Given the description of an element on the screen output the (x, y) to click on. 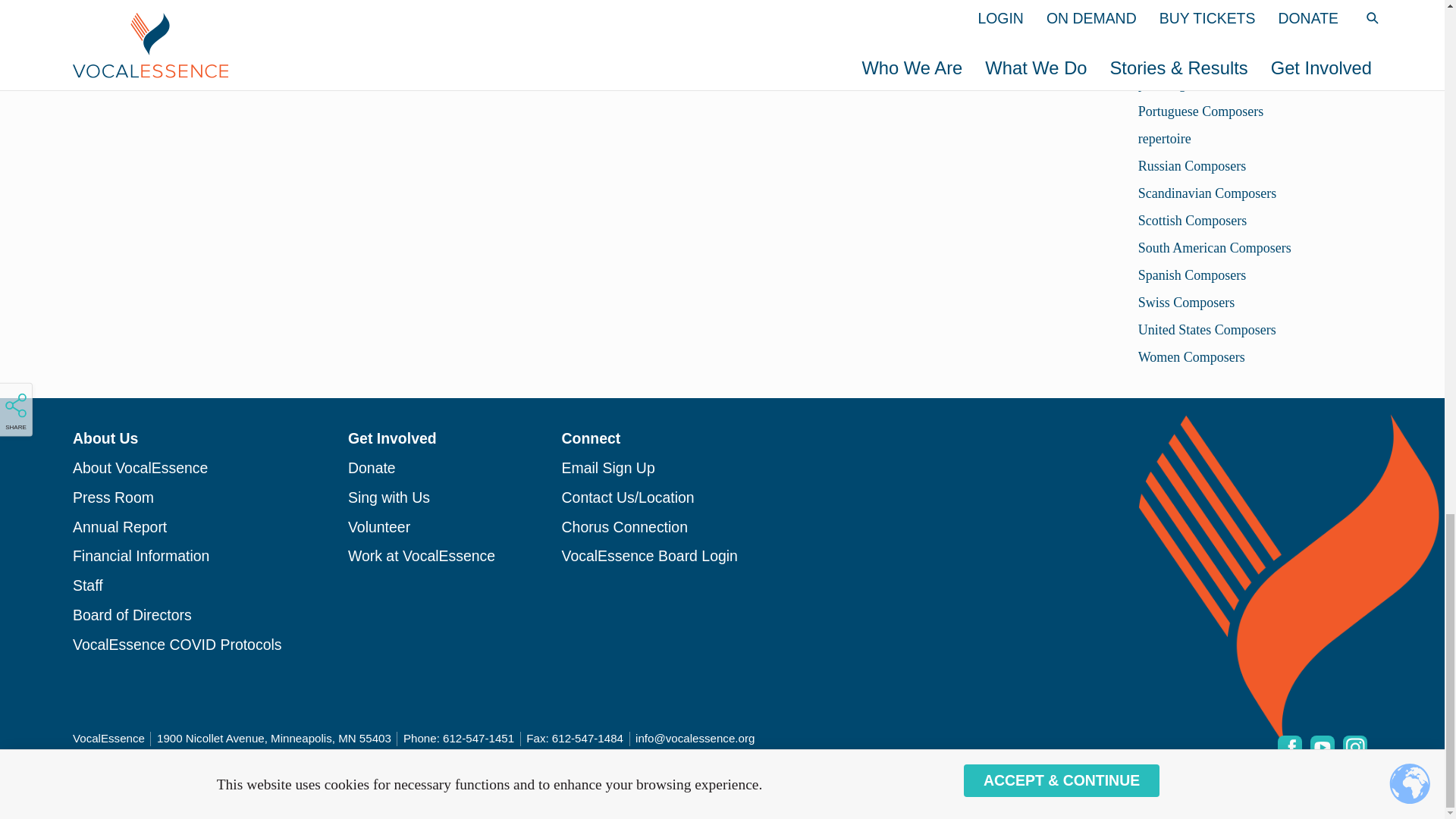
Facebook (1289, 747)
Instagram (1354, 747)
YouTube (1322, 747)
